Given the description of an element on the screen output the (x, y) to click on. 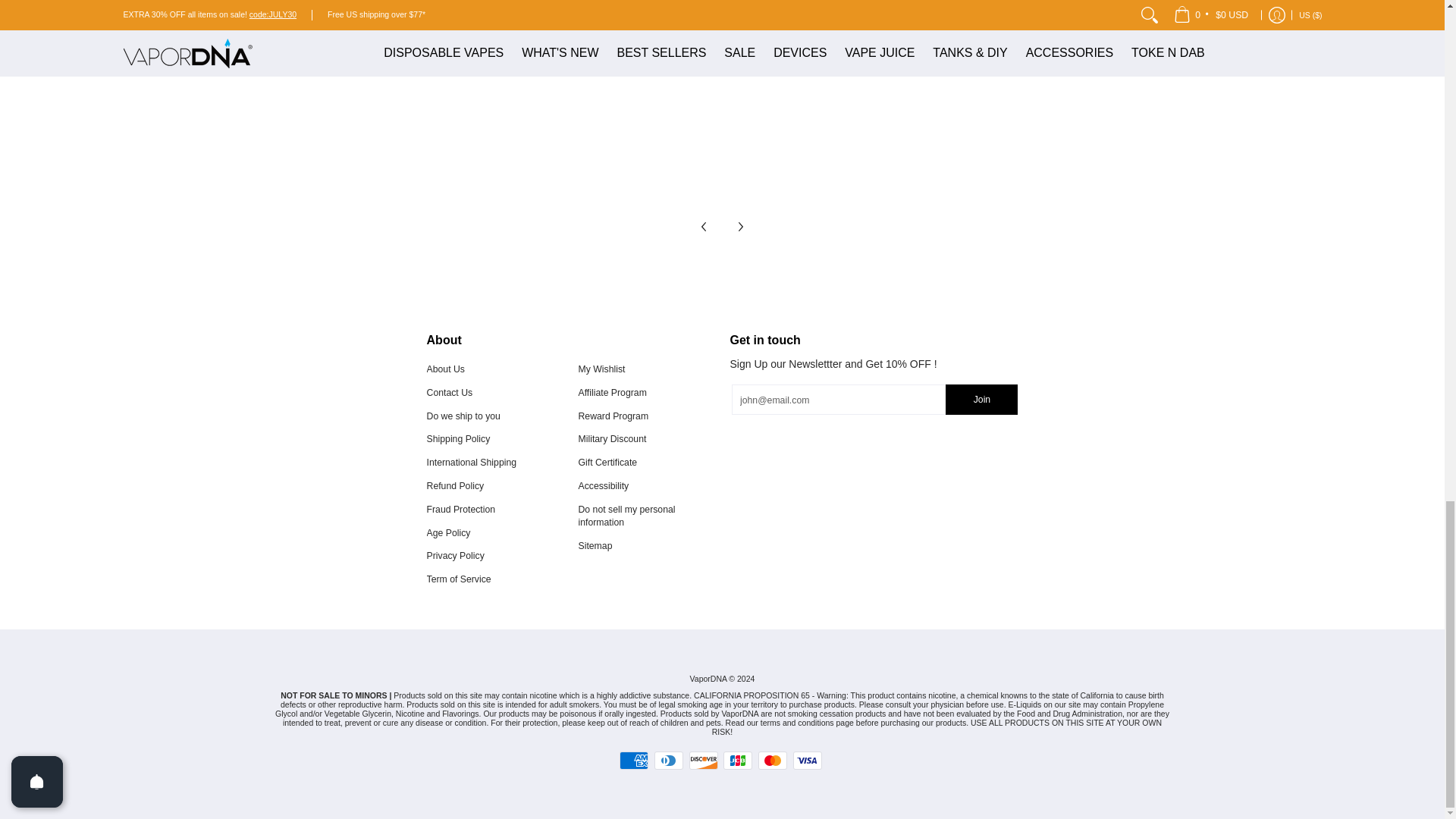
Diners Club (667, 760)
JCB (737, 760)
American Express (633, 760)
Discover (702, 760)
